Given the description of an element on the screen output the (x, y) to click on. 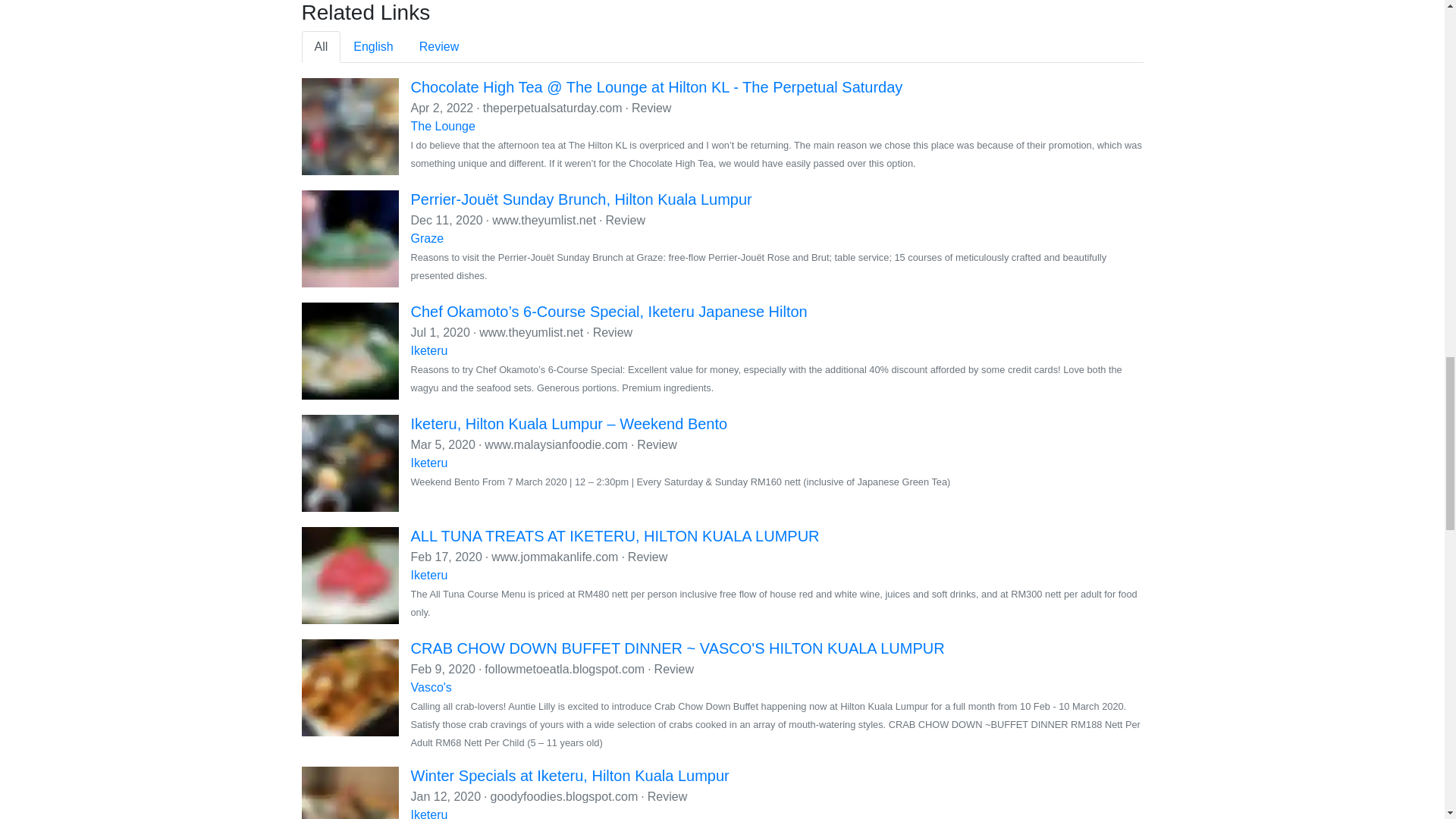
All (320, 47)
English (373, 47)
Review (438, 47)
The Lounge (443, 125)
